Given the description of an element on the screen output the (x, y) to click on. 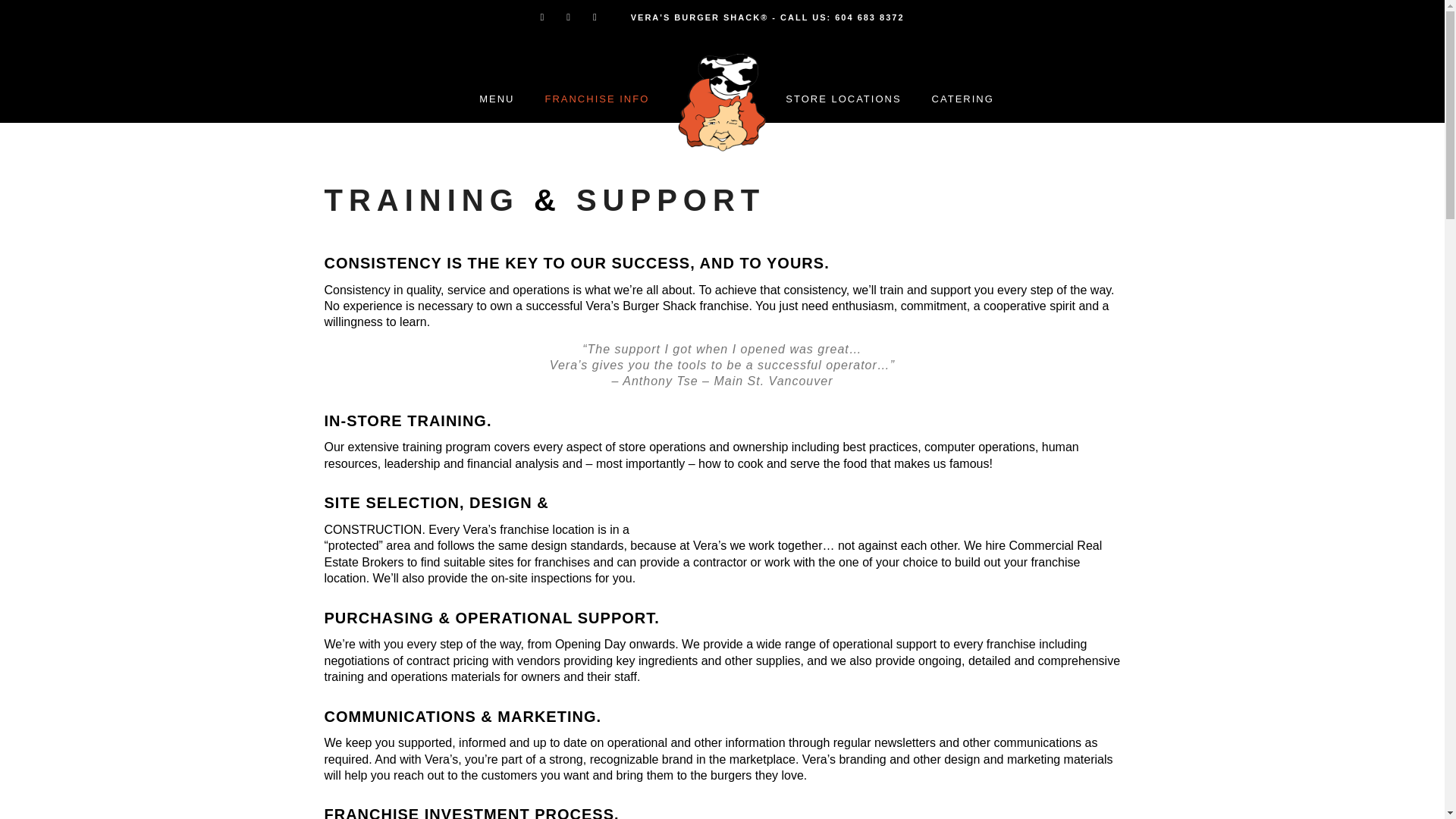
604 683 8372 (869, 17)
STORE LOCATIONS (842, 98)
CATERING (963, 98)
MENU (496, 98)
FRANCHISE INFO (596, 98)
